Given the description of an element on the screen output the (x, y) to click on. 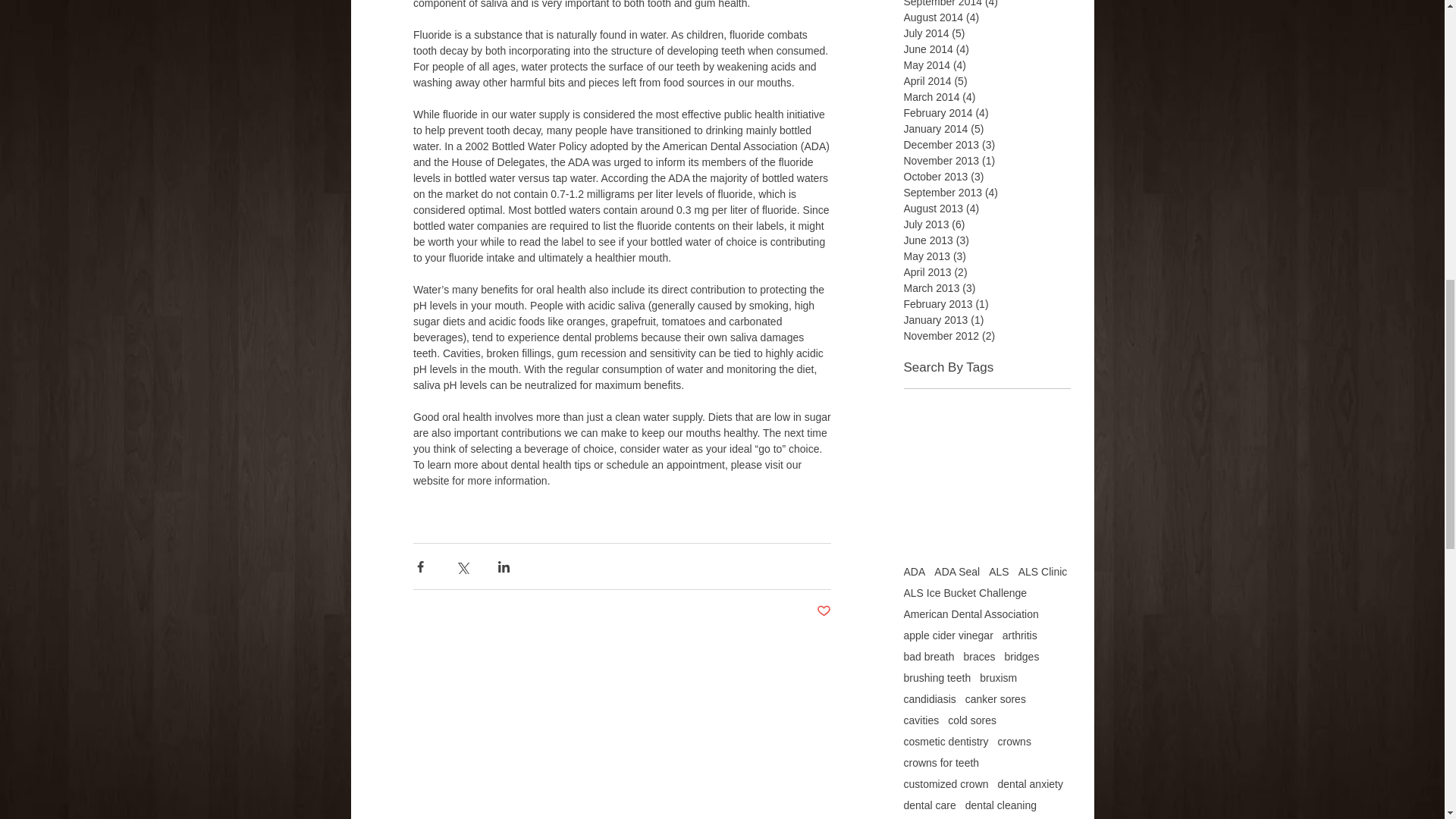
Post not marked as liked (822, 611)
